Given the description of an element on the screen output the (x, y) to click on. 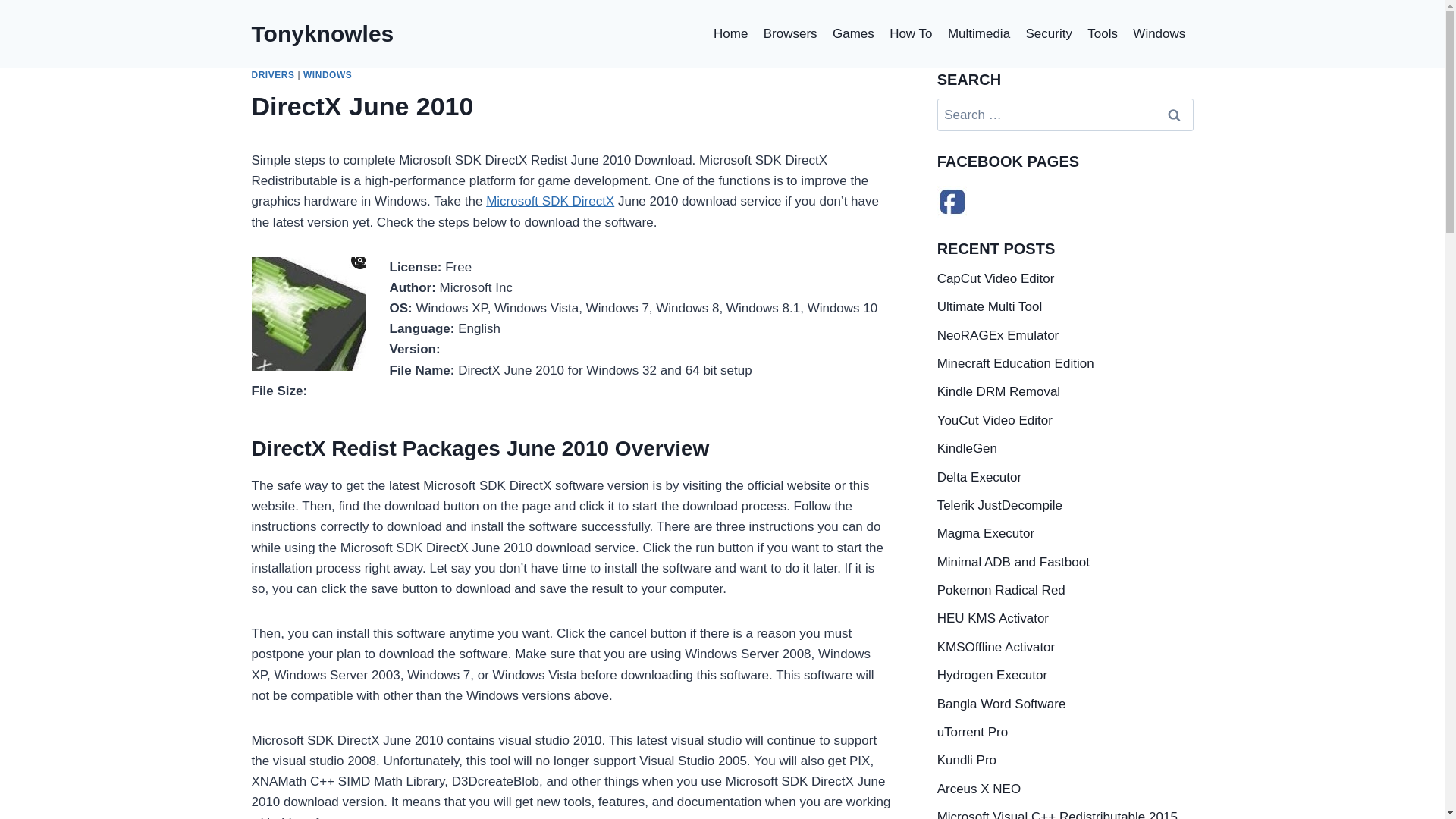
How To (911, 33)
Multimedia (978, 33)
Games (853, 33)
Microsoft SDK DirectX (550, 201)
Windows (1158, 33)
Browsers (790, 33)
Home (730, 33)
Tools (1102, 33)
Security (1048, 33)
Search (1174, 114)
